Given the description of an element on the screen output the (x, y) to click on. 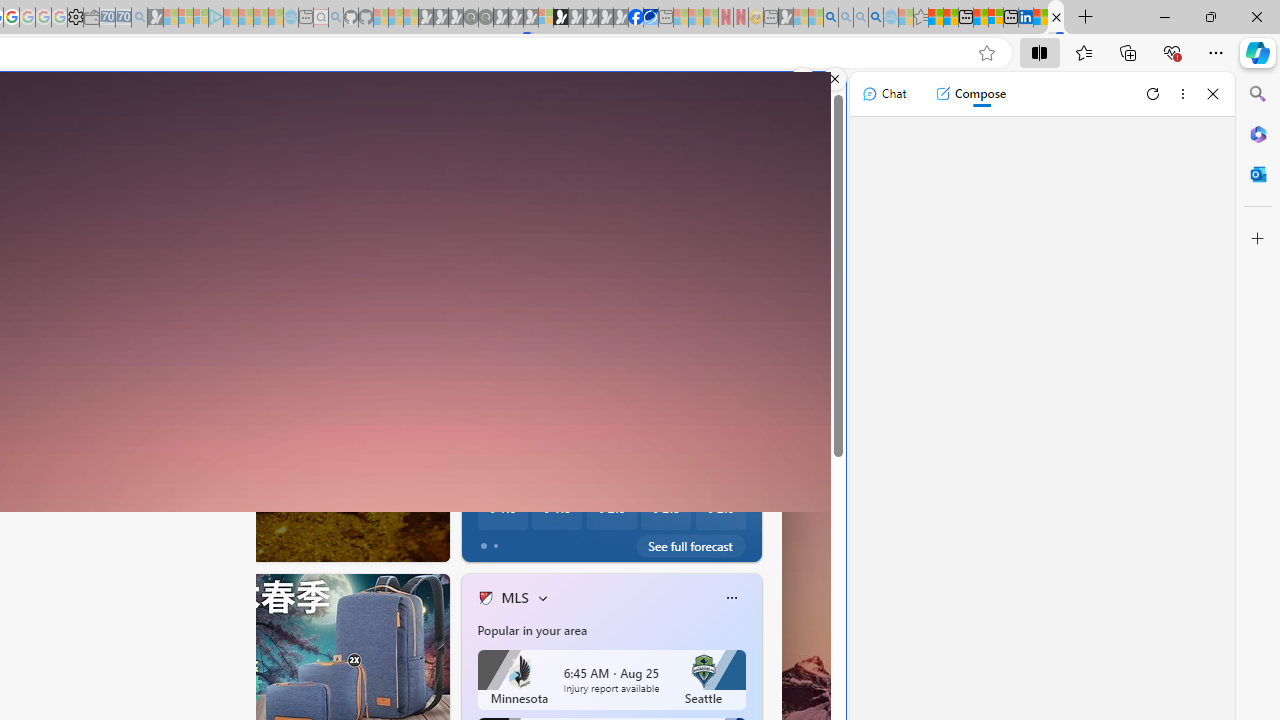
Show more topics (474, 232)
AutomationID: tab-21 (148, 542)
Which foods have the most plastics? You may be surprised (758, 489)
TechRadar (477, 442)
2 Like (484, 541)
